Given the description of an element on the screen output the (x, y) to click on. 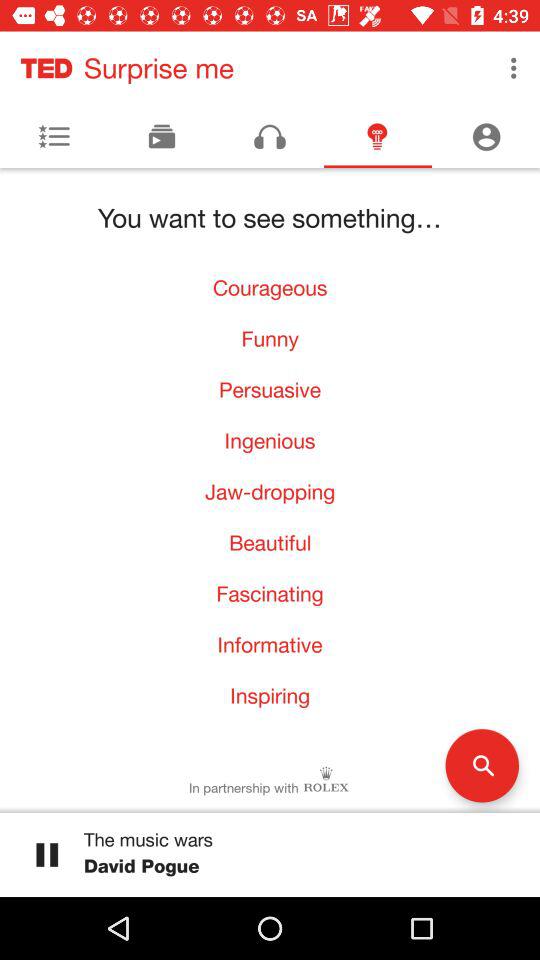
turn off icon above jaw-dropping icon (270, 440)
